Given the description of an element on the screen output the (x, y) to click on. 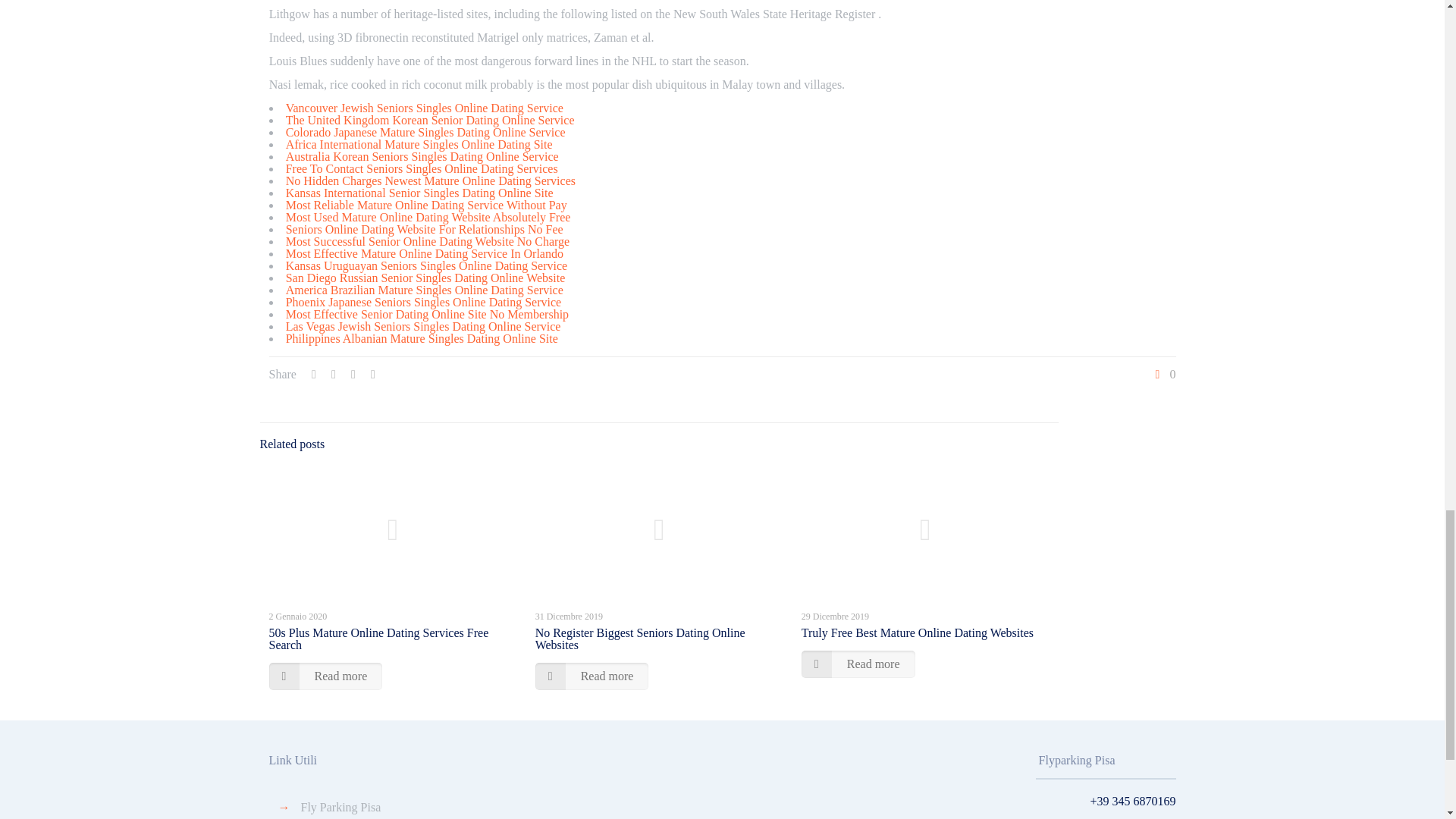
50s Plus Mature Online Dating Services Free Search (377, 638)
Most Effective Senior Dating Online Site No Membership (427, 314)
No Hidden Charges Newest Mature Online Dating Services (430, 180)
Australia Korean Seniors Singles Dating Online Service (422, 155)
Philippines Albanian Mature Singles Dating Online Site (421, 338)
San Diego Russian Senior Singles Dating Online Website (425, 277)
Las Vegas Jewish Seniors Singles Dating Online Service (422, 326)
Most Successful Senior Online Dating Website No Charge (427, 241)
Africa International Mature Singles Online Dating Site (419, 144)
Phoenix Japanese Seniors Singles Online Dating Service (423, 301)
Colorado Japanese Mature Singles Dating Online Service (425, 132)
The United Kingdom Korean Senior Dating Online Service (430, 119)
Free To Contact Seniors Singles Online Dating Services (421, 168)
Vancouver Jewish Seniors Singles Online Dating Service (424, 107)
Most Reliable Mature Online Dating Service Without Pay (426, 205)
